Given the description of an element on the screen output the (x, y) to click on. 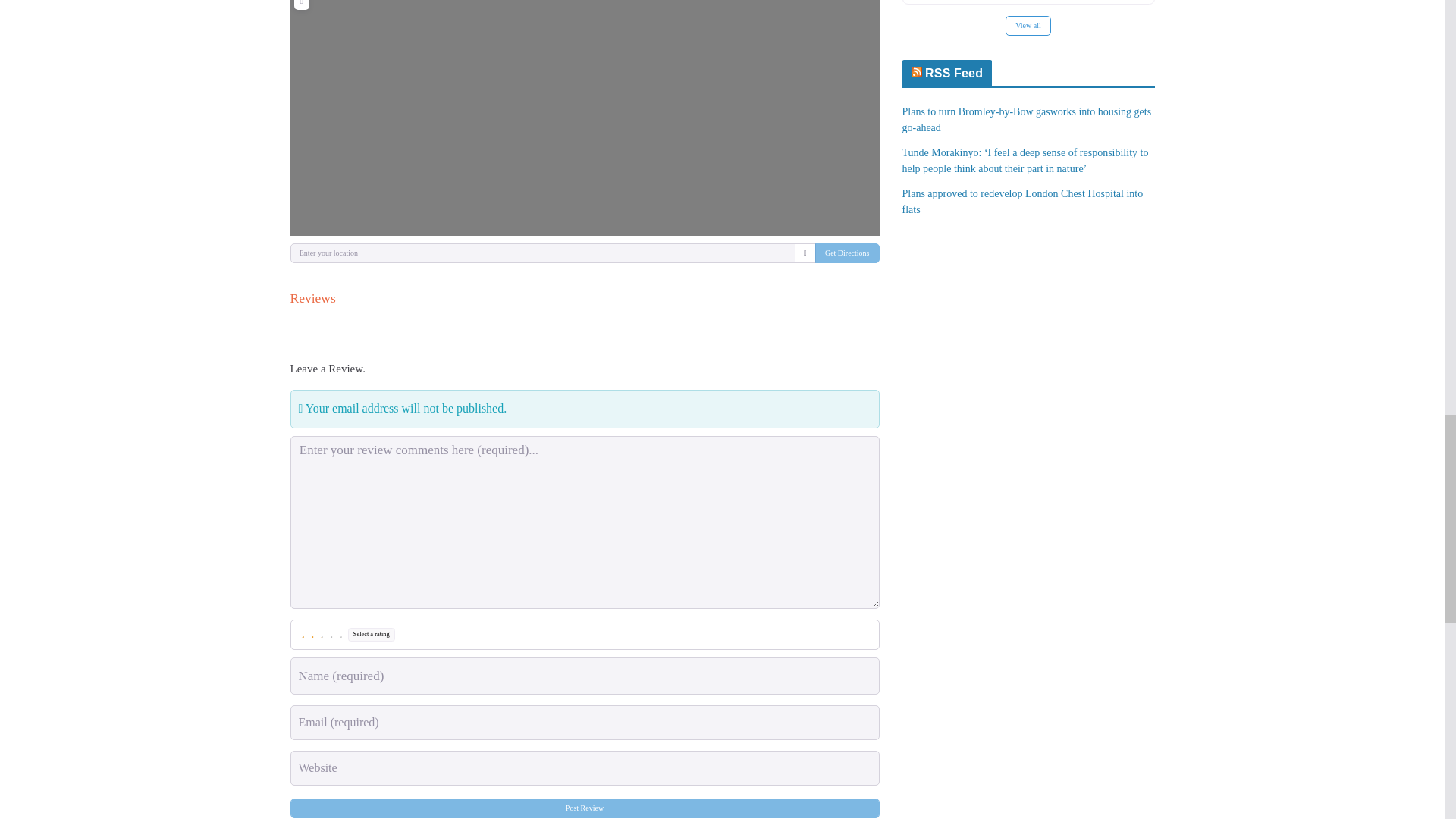
use my location (804, 252)
Terrible (303, 633)
Average (321, 633)
Poor (312, 633)
Post Review (584, 808)
